Given the description of an element on the screen output the (x, y) to click on. 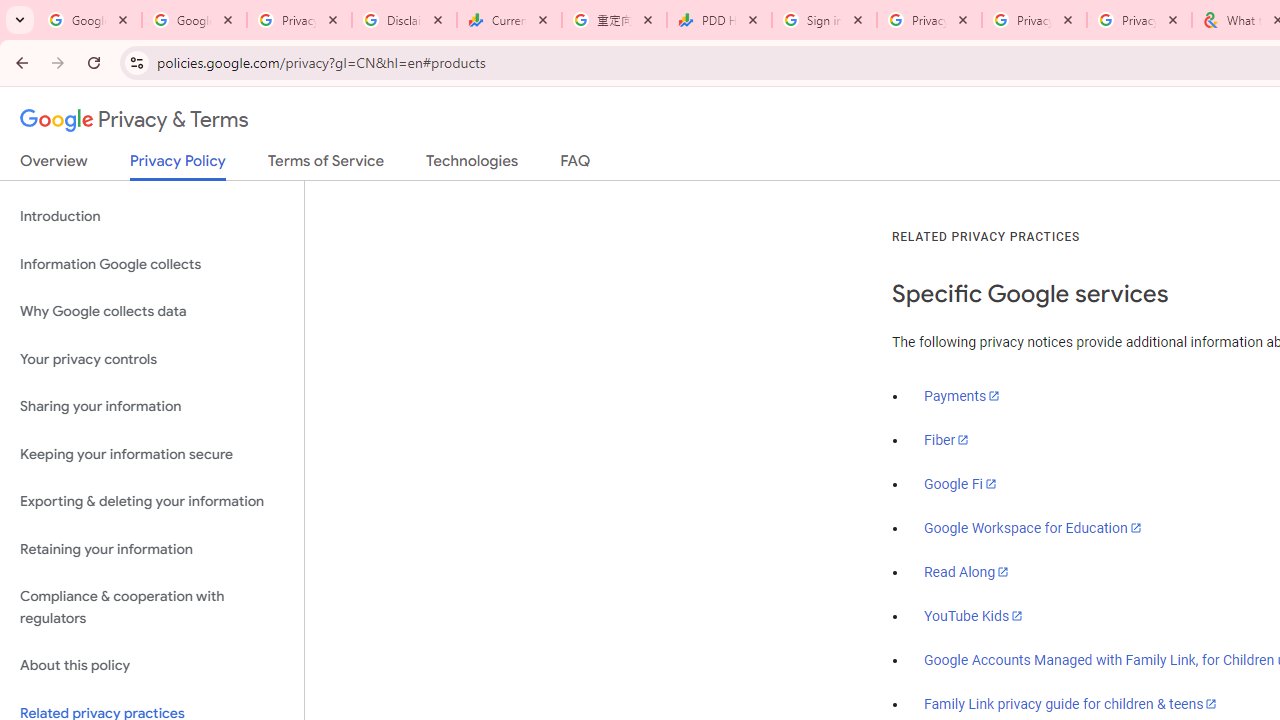
Why Google collects data (152, 312)
Google Workspace Admin Community (89, 20)
Family Link privacy guide for children & teens (1071, 703)
Fiber (947, 440)
Privacy Checkup (1033, 20)
Sign in - Google Accounts (823, 20)
Information Google collects (152, 263)
